Given the description of an element on the screen output the (x, y) to click on. 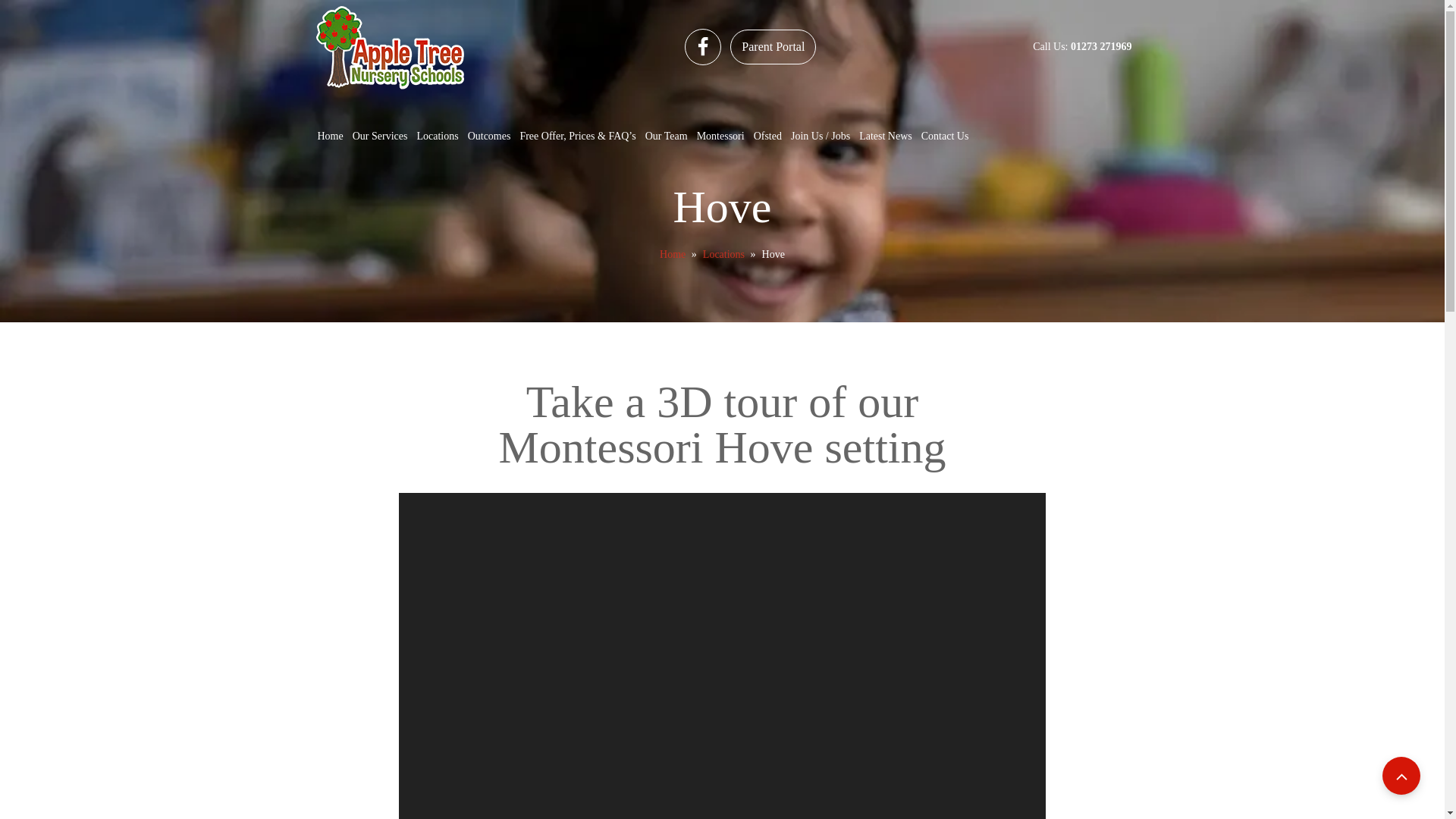
Home (672, 254)
Locations (723, 254)
Breadcrumb link to Locations (723, 254)
Our Services (379, 136)
Latest News (885, 136)
Our Team (666, 136)
Outcomes (489, 136)
Contact Us (945, 136)
Parent Portal (772, 46)
Call Us: 01273 271969 (1081, 46)
